Given the description of an element on the screen output the (x, y) to click on. 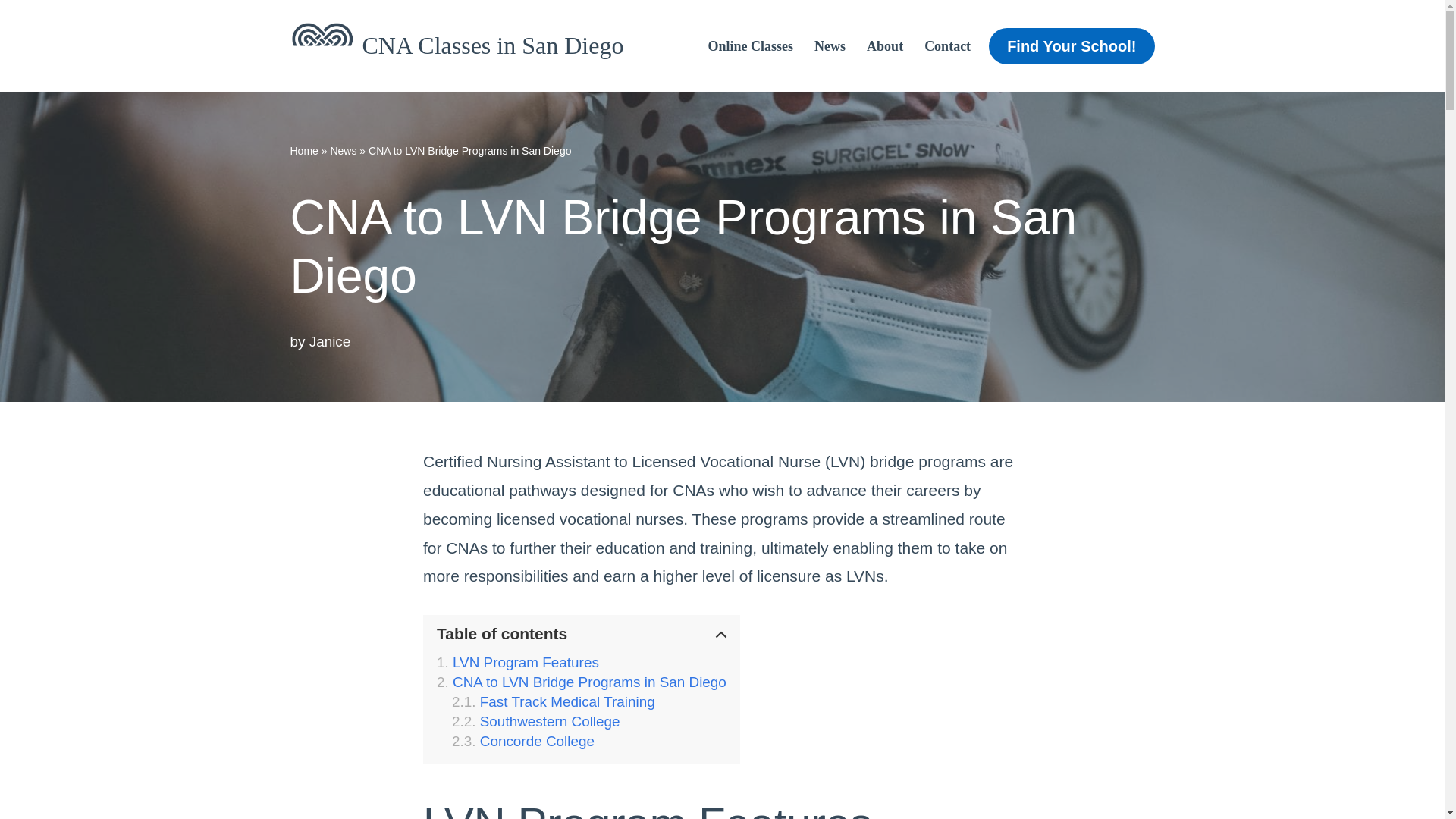
Posts by Janice (329, 341)
Skip to content (11, 31)
LVN Program Features (517, 662)
News (829, 46)
Southwestern College (535, 721)
Contact (947, 46)
Fast Track Medical Training (553, 701)
CNA Classes in San Diego (456, 45)
Find Your School! (1071, 45)
Janice (329, 341)
